Given the description of an element on the screen output the (x, y) to click on. 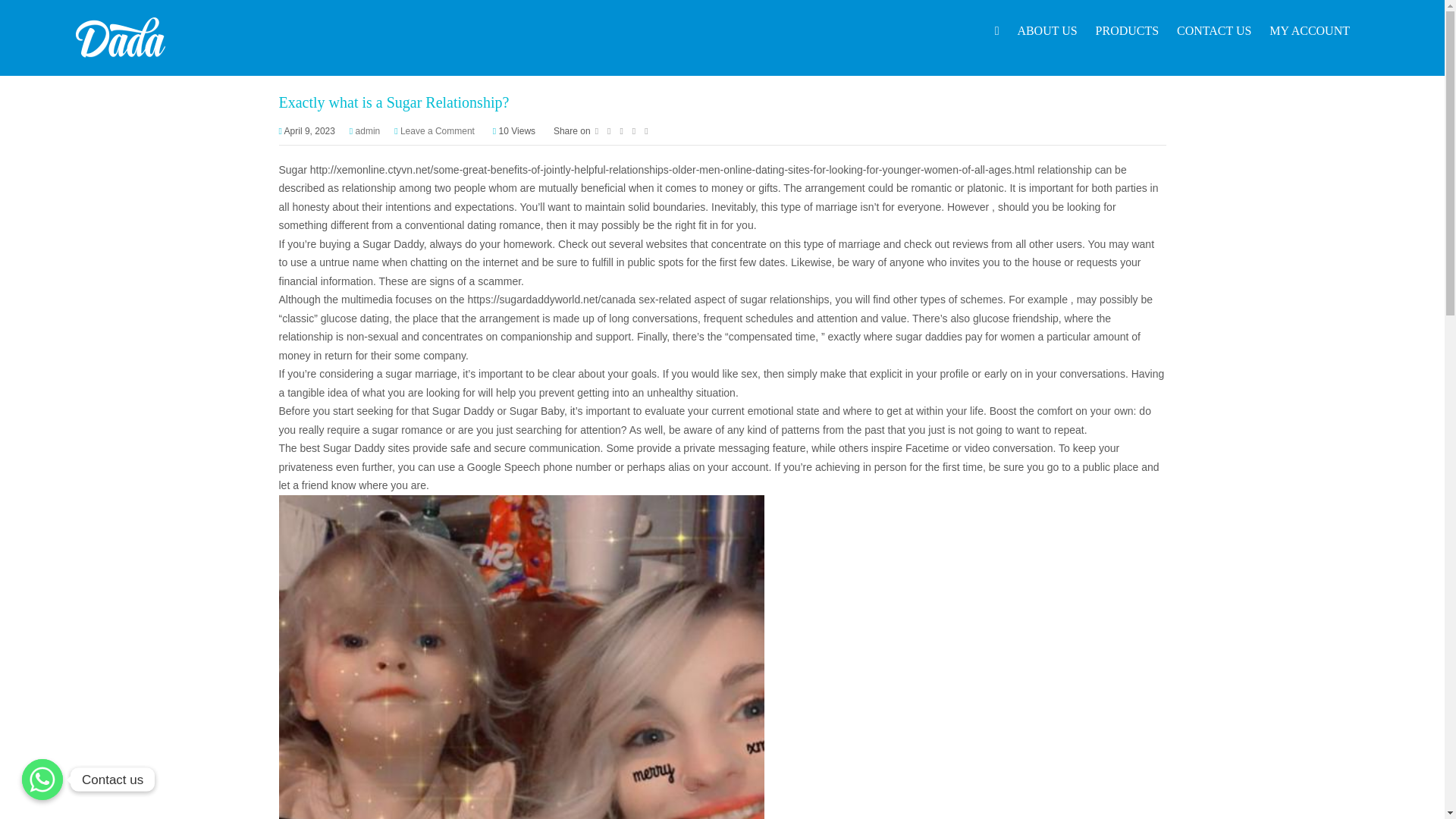
Leave a Comment (437, 131)
Contact us (41, 779)
CONTACT US (1214, 31)
MY ACCOUNT (1309, 31)
Dada Brands (120, 38)
ABOUT US (1046, 31)
PRODUCTS (1127, 31)
admin (367, 131)
Exactly what is a Sugar Relationship? (394, 102)
